Given the description of an element on the screen output the (x, y) to click on. 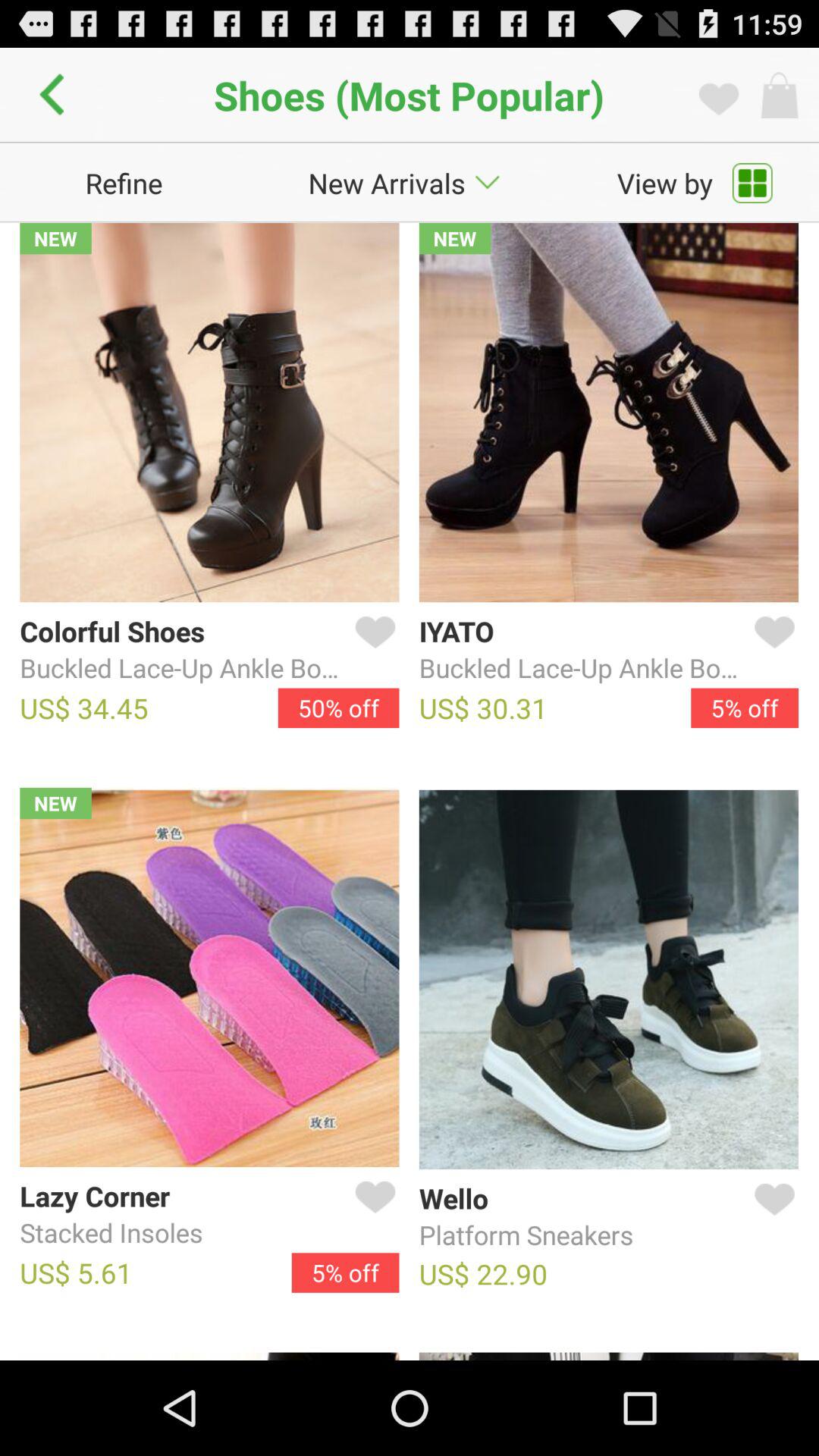
save (771, 1217)
